Given the description of an element on the screen output the (x, y) to click on. 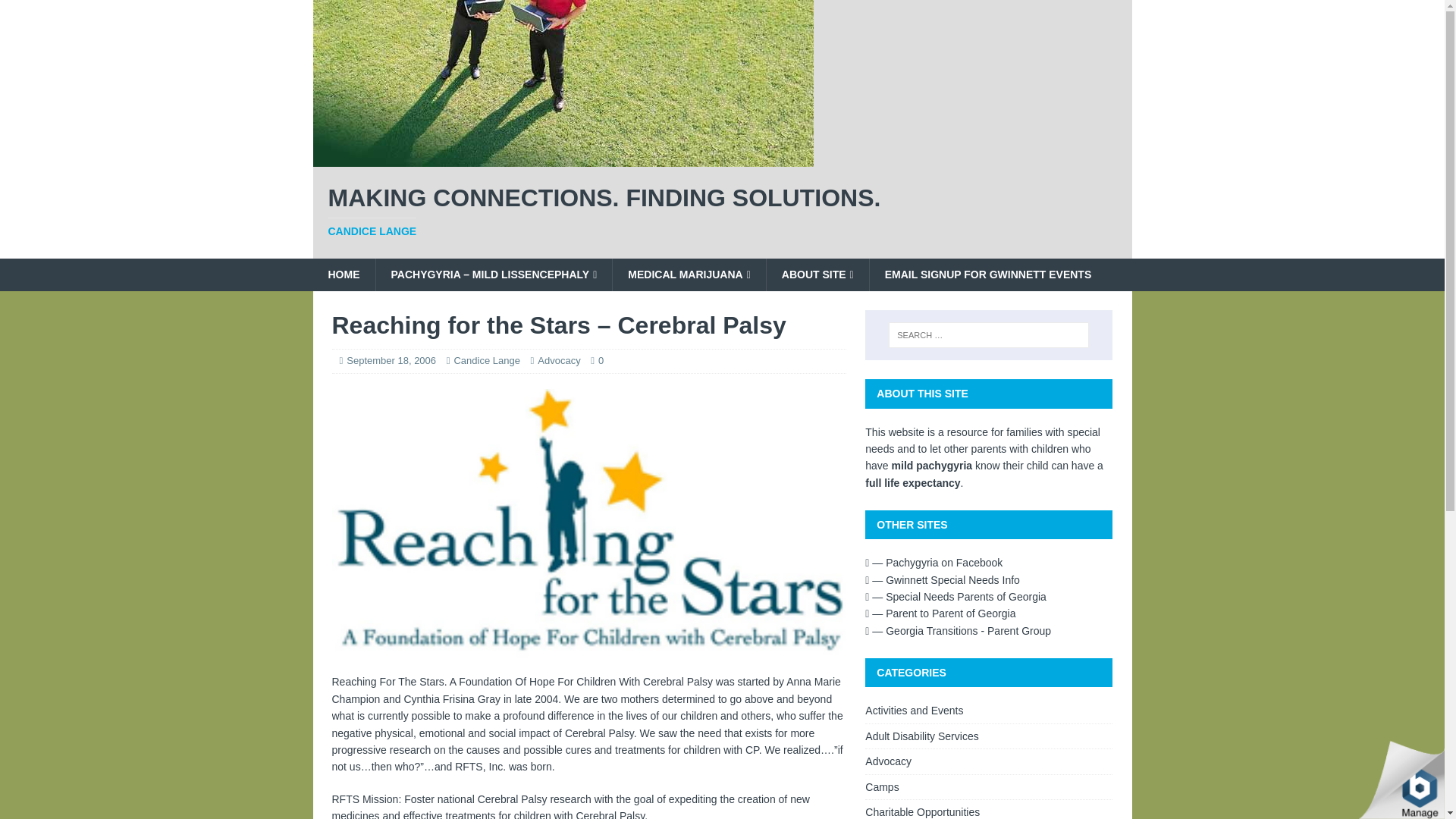
Georgia Transitions - Parent Group (957, 630)
Making Connections. Finding Solutions. (562, 158)
Special Needs Parents of Georgia (955, 596)
HOME (343, 274)
MEDICAL MARIJUANA (721, 211)
Gwinnett Special Needs Info (688, 274)
September 18, 2006 (942, 580)
ABOUT SITE (390, 360)
Parent to Parent of Georgia (817, 274)
